Given the description of an element on the screen output the (x, y) to click on. 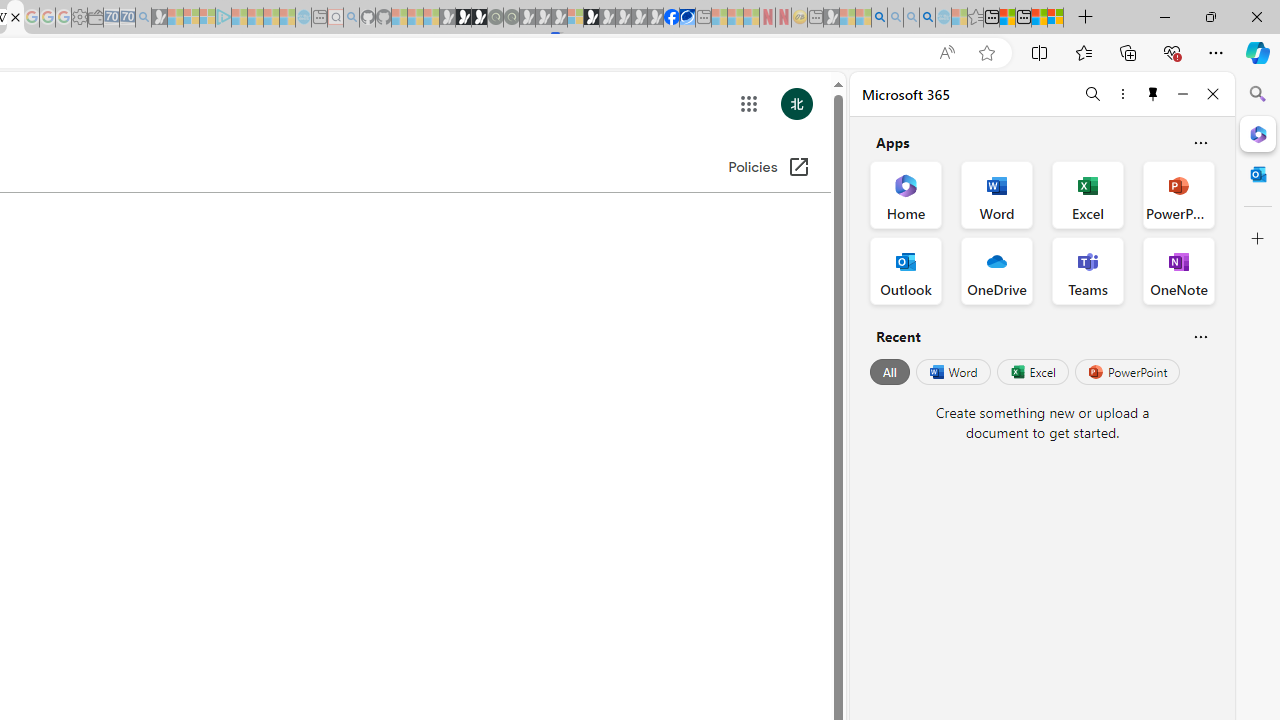
Google apps (749, 103)
AirNow.gov (687, 17)
Teams Office App (1087, 270)
Excel Office App (1087, 194)
